Given the description of an element on the screen output the (x, y) to click on. 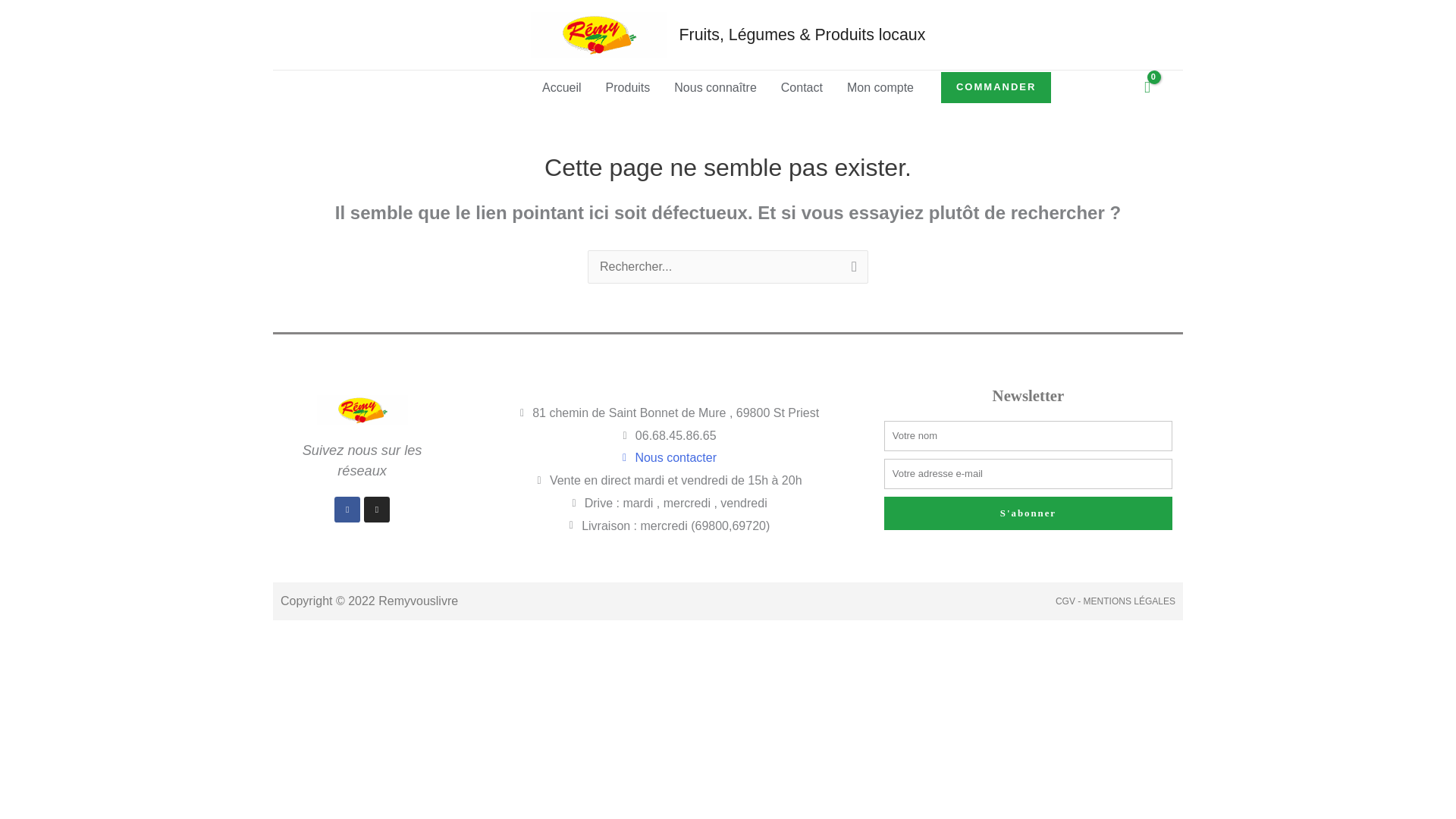
Rechercher (850, 269)
Facebook (346, 509)
Produits (628, 87)
COMMANDER (995, 87)
Rechercher (850, 269)
Instagram (377, 509)
Nous contacter (667, 457)
S'abonner (1027, 513)
Accueil (561, 87)
Mon compte (880, 87)
Rechercher (850, 269)
Contact (801, 87)
